Given the description of an element on the screen output the (x, y) to click on. 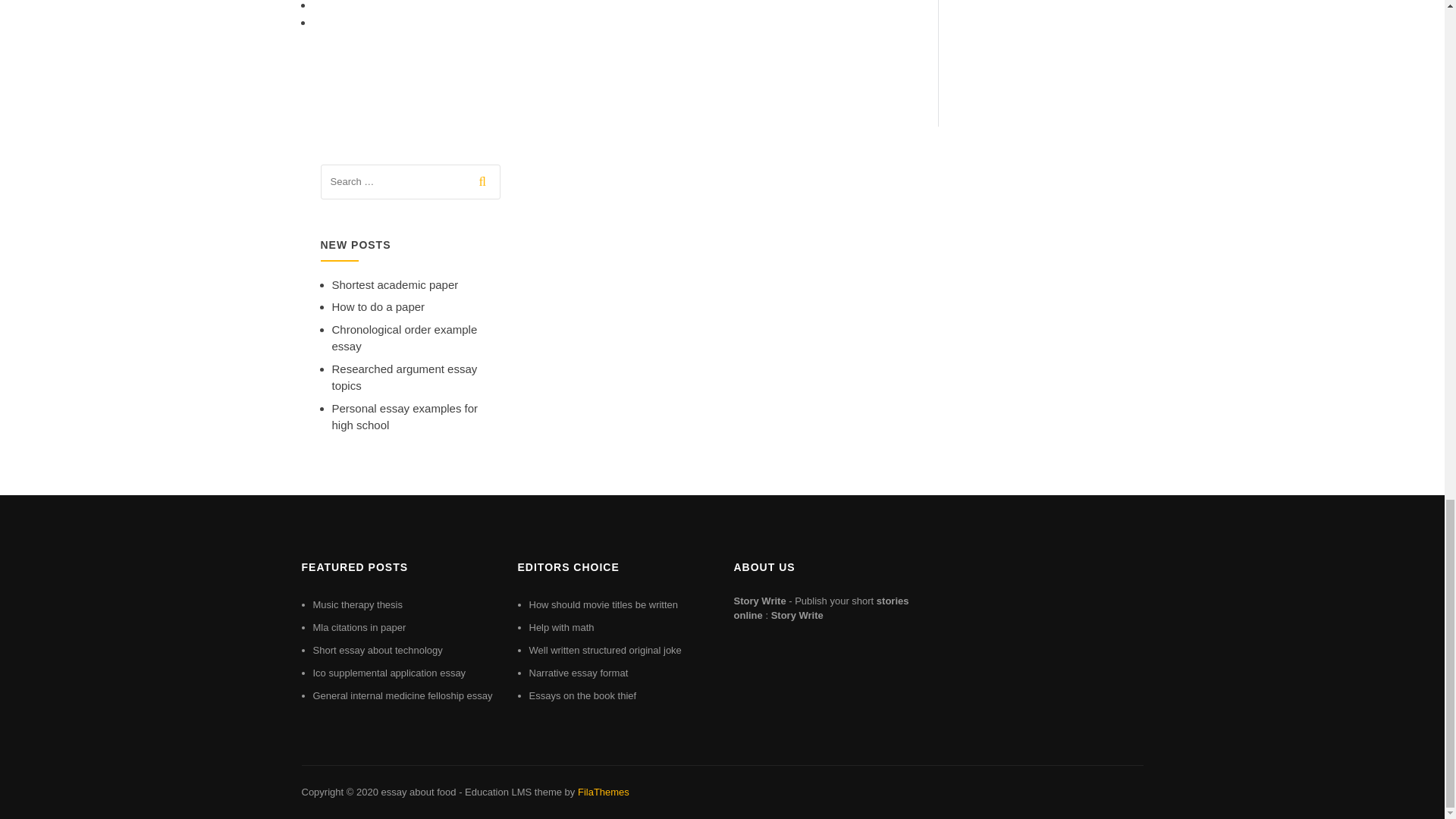
Well written structured original joke (605, 650)
Essays on the book thief (583, 695)
Personal essay examples for high school (405, 417)
Researched argument essay topics (404, 377)
Narrative essay format (578, 672)
Ico supplemental application essay (389, 672)
Shortest academic paper (394, 284)
Music therapy thesis (358, 604)
Mla citations in paper (359, 627)
General internal medicine felloship essay (402, 695)
